Given the description of an element on the screen output the (x, y) to click on. 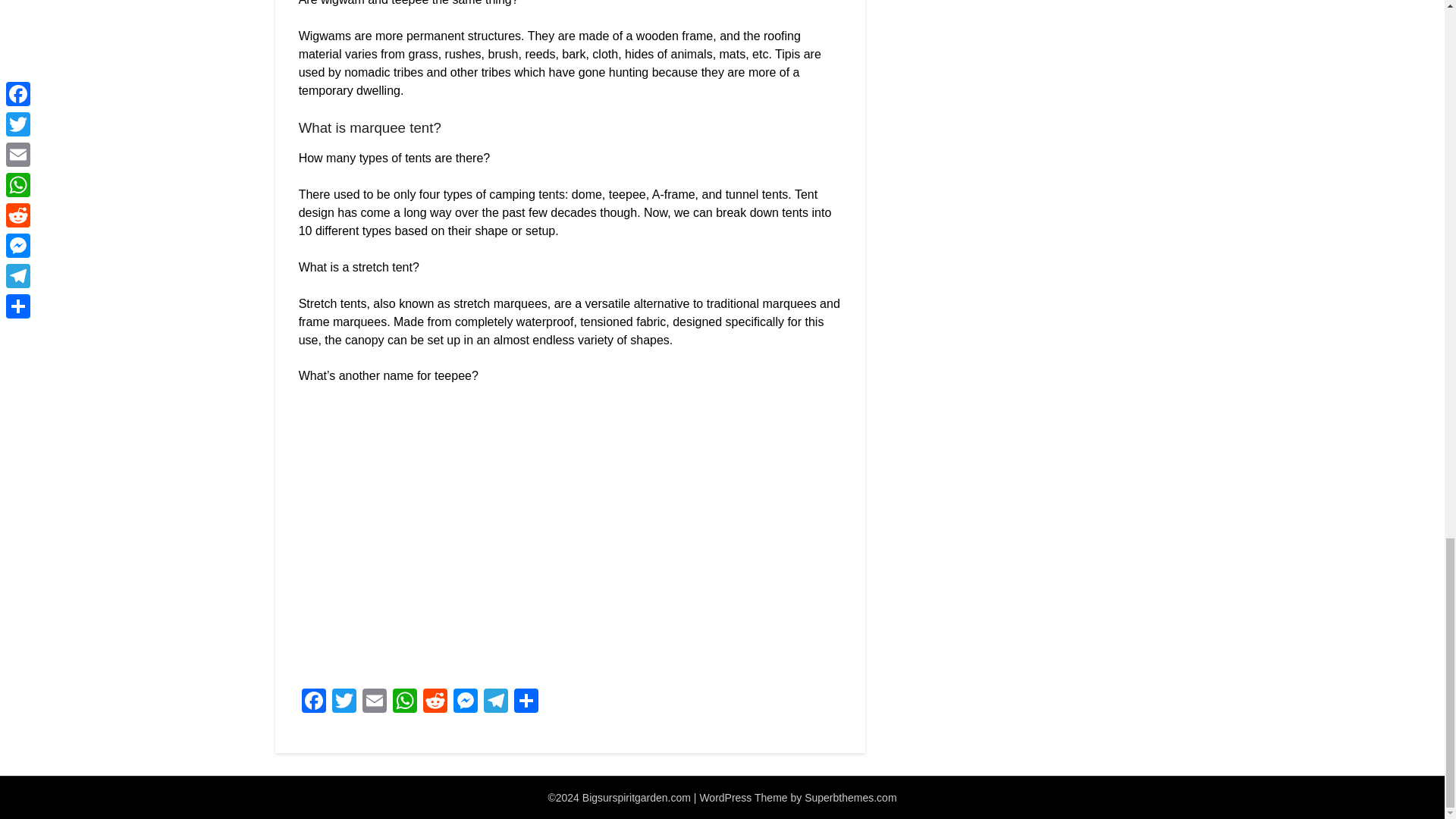
Facebook (313, 702)
Messenger (464, 702)
Superbthemes.com (850, 797)
Email (374, 702)
WhatsApp (405, 702)
Telegram (495, 702)
Messenger (464, 702)
Twitter (344, 702)
WhatsApp (405, 702)
Telegram (495, 702)
Facebook (313, 702)
Reddit (434, 702)
Reddit (434, 702)
Unboxing Mini Foos ball Table. (541, 532)
Email (374, 702)
